Given the description of an element on the screen output the (x, y) to click on. 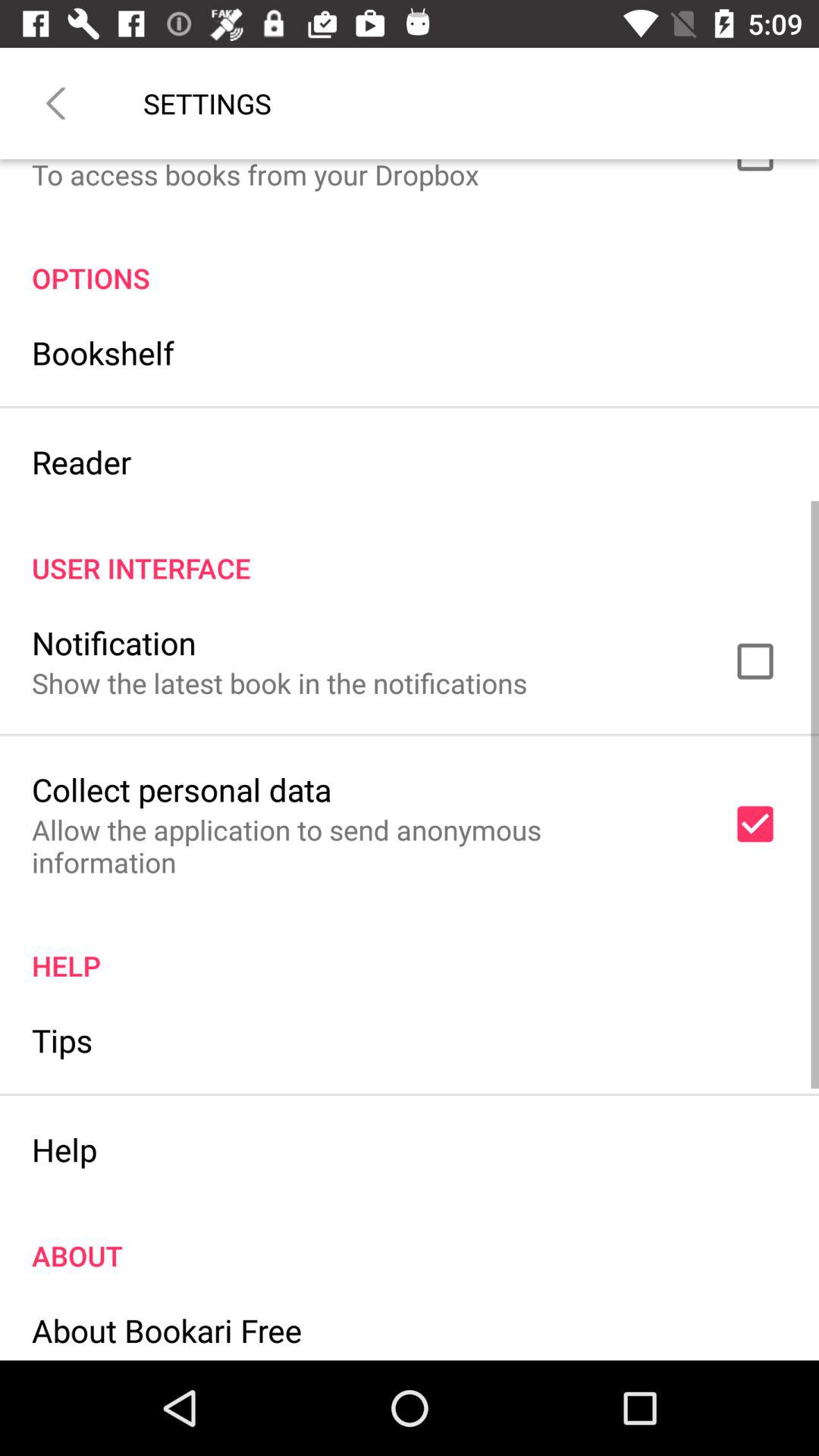
flip until the collect personal data item (181, 789)
